Given the description of an element on the screen output the (x, y) to click on. 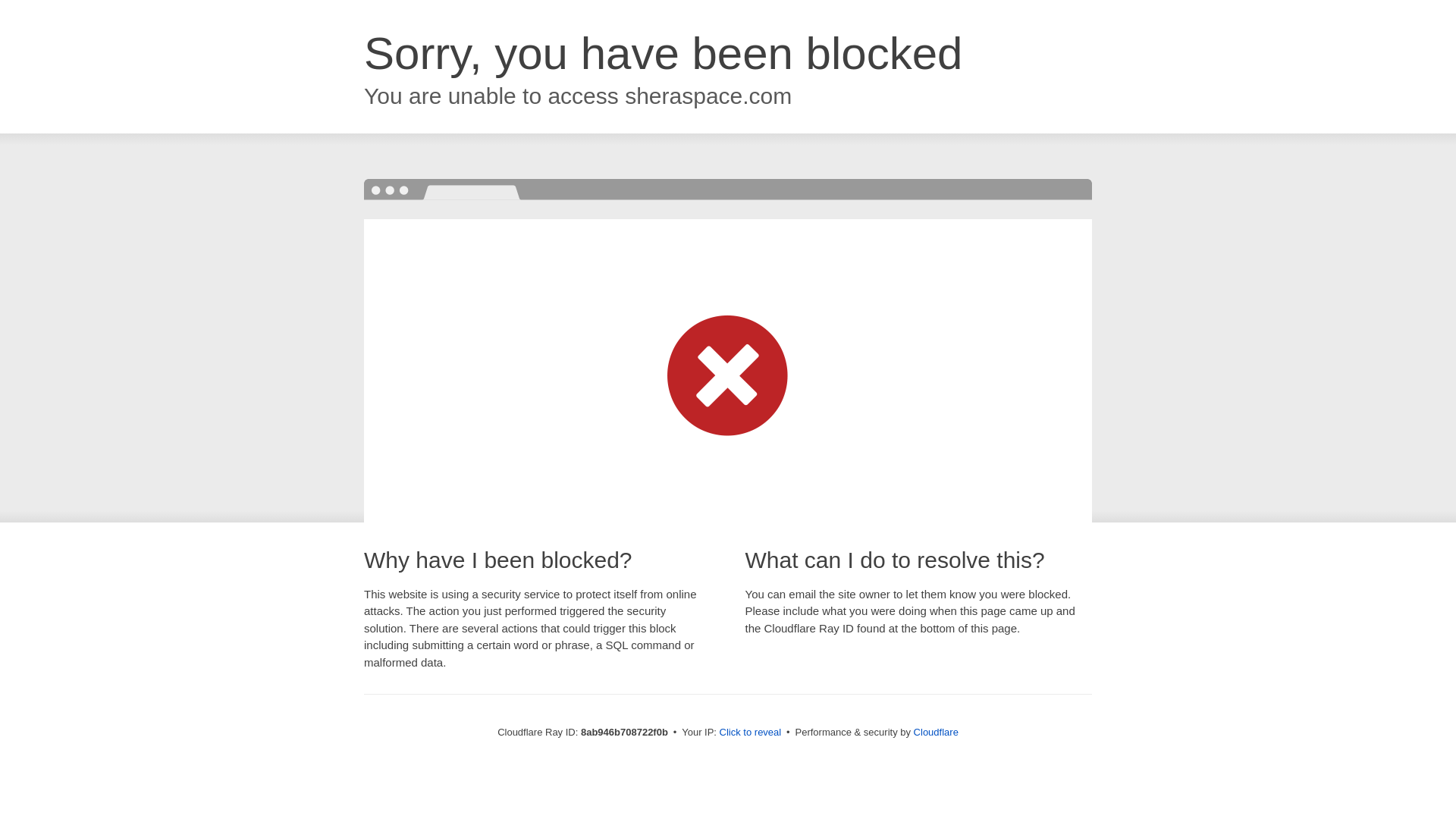
Click to reveal (750, 732)
Cloudflare (936, 731)
